Given the description of an element on the screen output the (x, y) to click on. 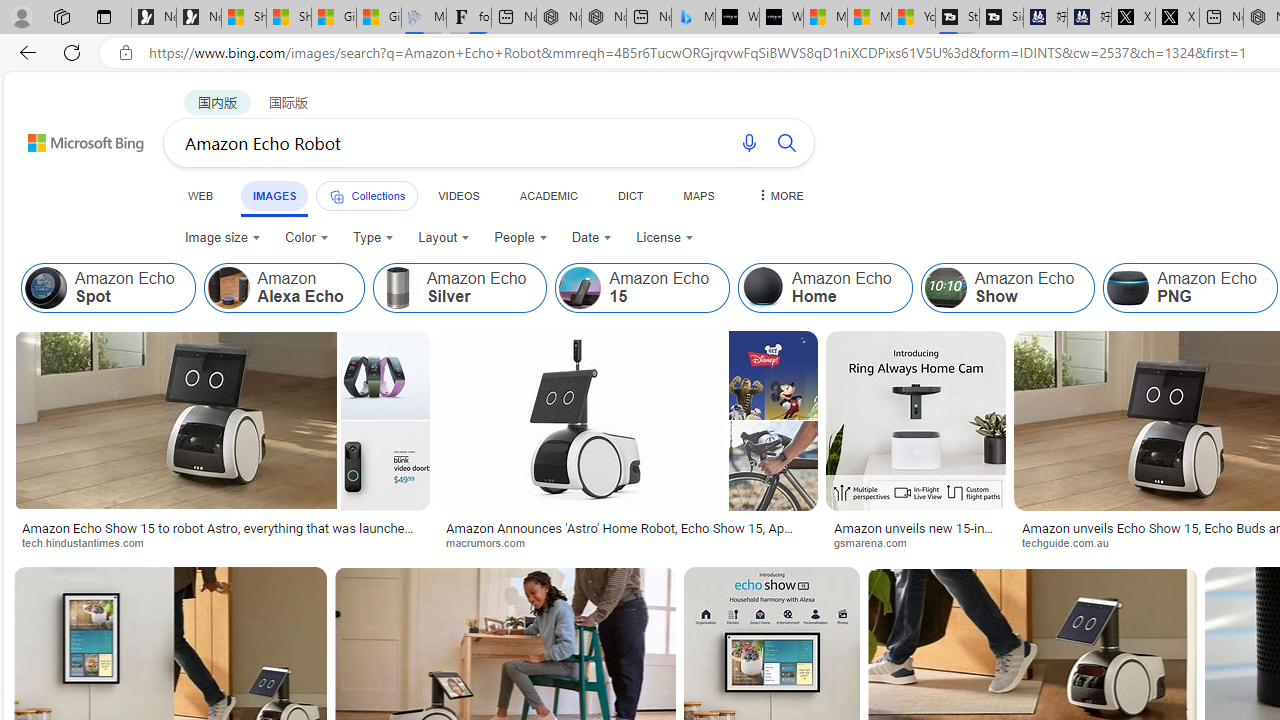
Amazon Echo PNG (1128, 287)
Amazon Echo 15 (642, 287)
Dropdown Menu (779, 195)
gsmarena.com (916, 542)
License (664, 237)
Amazon Echo Show (945, 287)
Date (591, 237)
Image size (221, 237)
Image result for Amazon Echo Robot (915, 421)
Search using voice (748, 142)
Layout (443, 237)
